Given the description of an element on the screen output the (x, y) to click on. 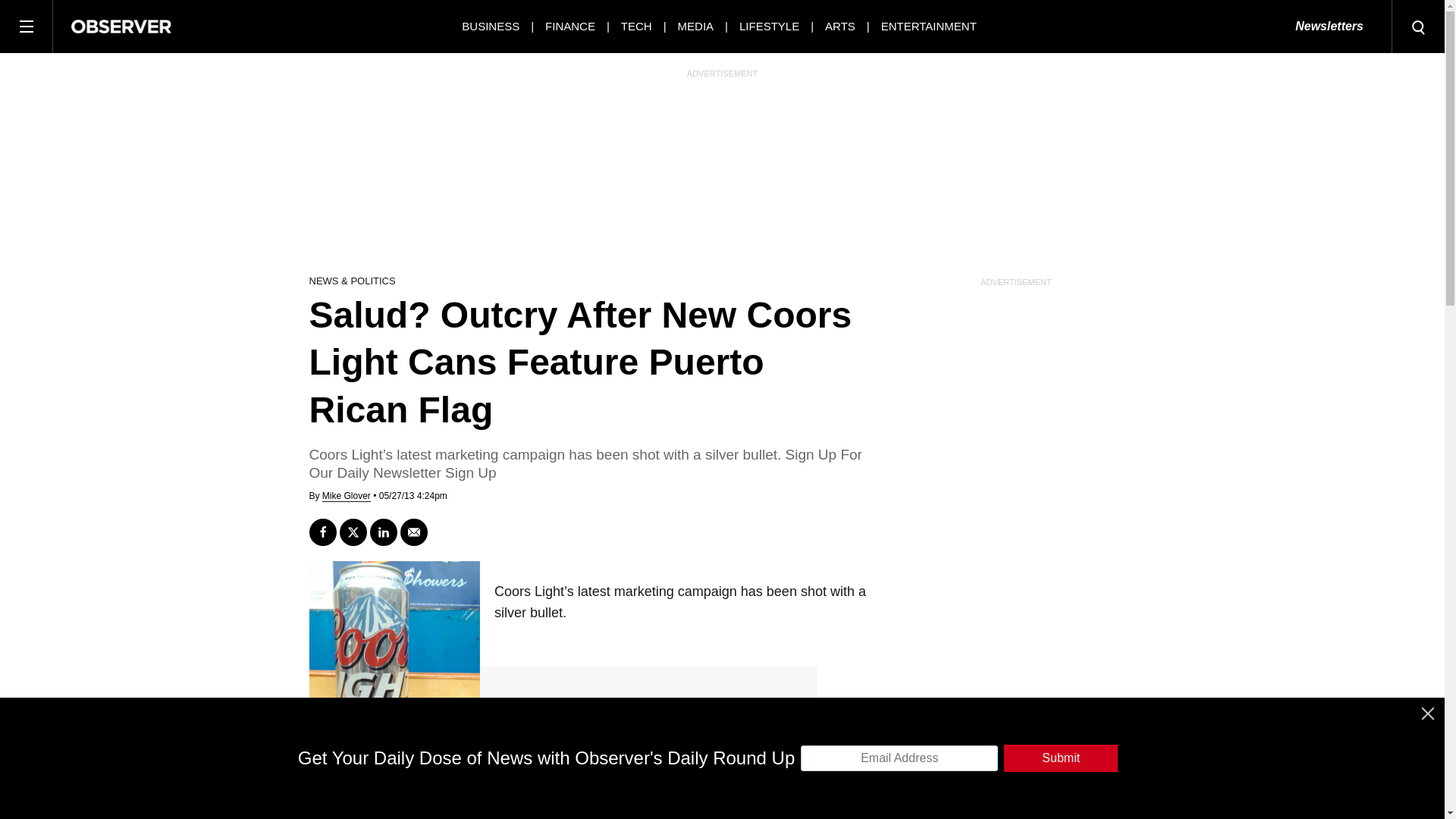
ENTERTAINMENT (928, 25)
Tweet (352, 532)
Share on Facebook (322, 532)
3rd party ad content (722, 170)
Newsletters (1329, 26)
MEDIA (696, 25)
ARTS (840, 25)
Share on LinkedIn (383, 532)
View All Posts by Mike Glover (346, 496)
TECH (636, 25)
3rd party ad content (721, 785)
Observer (121, 26)
Send email (414, 532)
BUSINESS (490, 25)
FINANCE (569, 25)
